Given the description of an element on the screen output the (x, y) to click on. 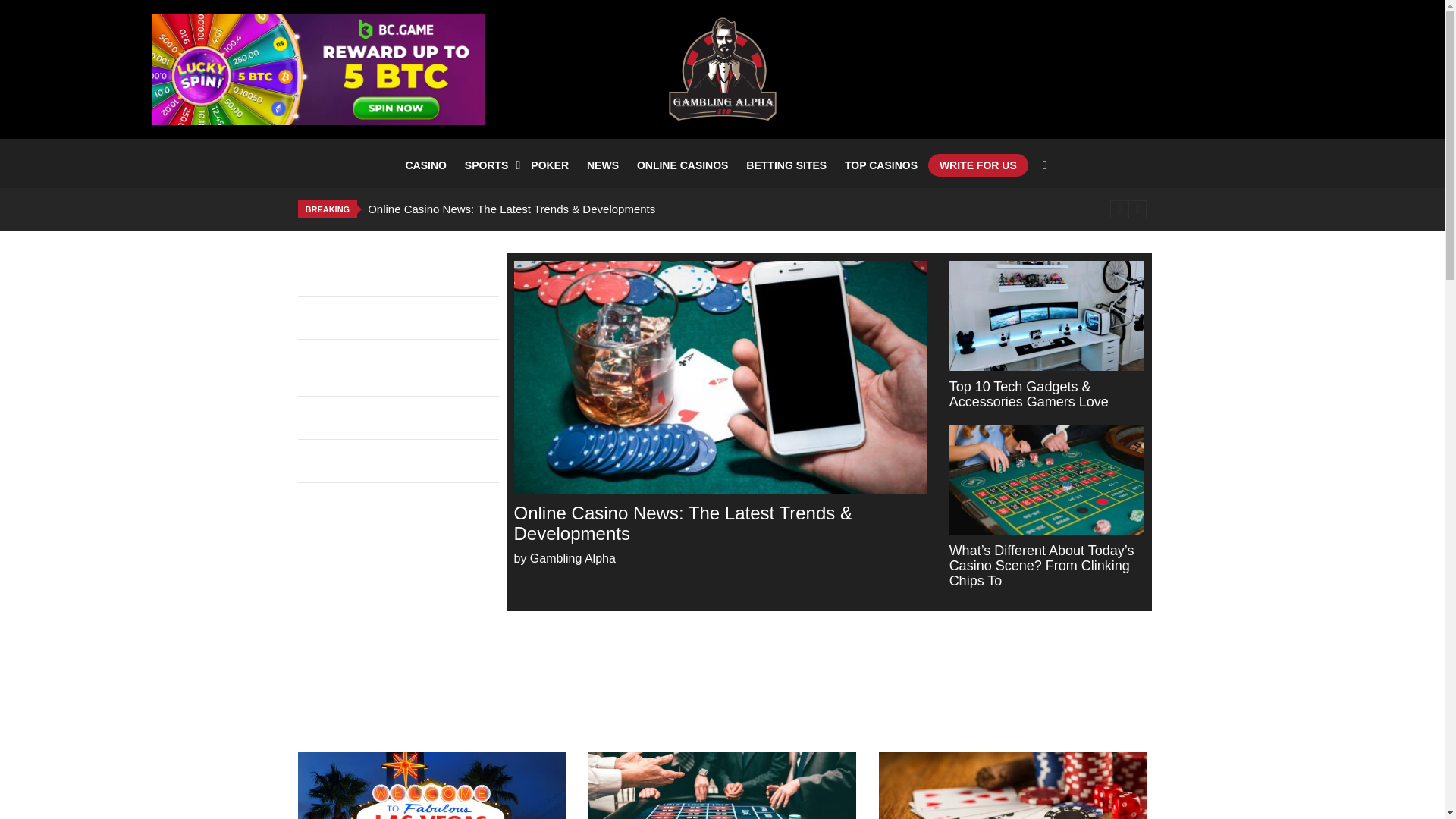
Posts by Gambling Alpha (572, 558)
BitStarz Casino Review: Navigating The Legitimacy (402, 460)
WRITE FOR US (978, 164)
BETTING SITES (786, 164)
ONLINE CASINOS (682, 164)
Top 10 Gambling Cities In The World With Biggest Casinos (430, 785)
Top 10 Casinos In New York (1013, 785)
Betting Online (184, 208)
CASINO (424, 164)
SPORTS (489, 164)
NEWS (602, 164)
Top 10 Casinos In New Jersey (722, 785)
TOP CASINOS (880, 164)
POKER (549, 164)
